Given the description of an element on the screen output the (x, y) to click on. 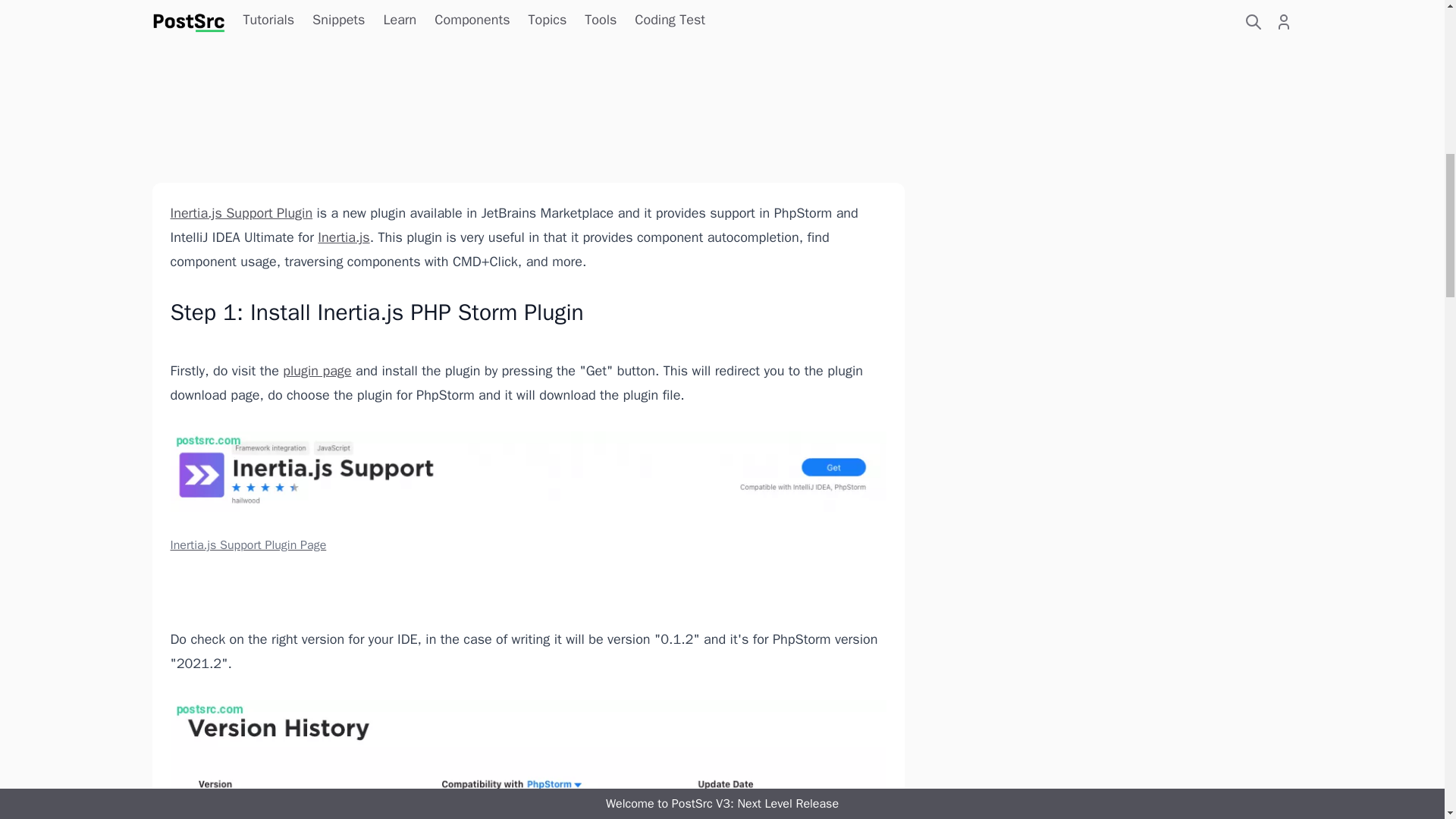
Inertia.js Download for PhpStorm (527, 759)
Inertia.js Support Plugin Page (527, 492)
plugin page (316, 370)
Inertia.js Support Plugin (241, 212)
Inertia.js (343, 237)
Advertisement (1110, 71)
Advertisement (527, 79)
